Given the description of an element on the screen output the (x, y) to click on. 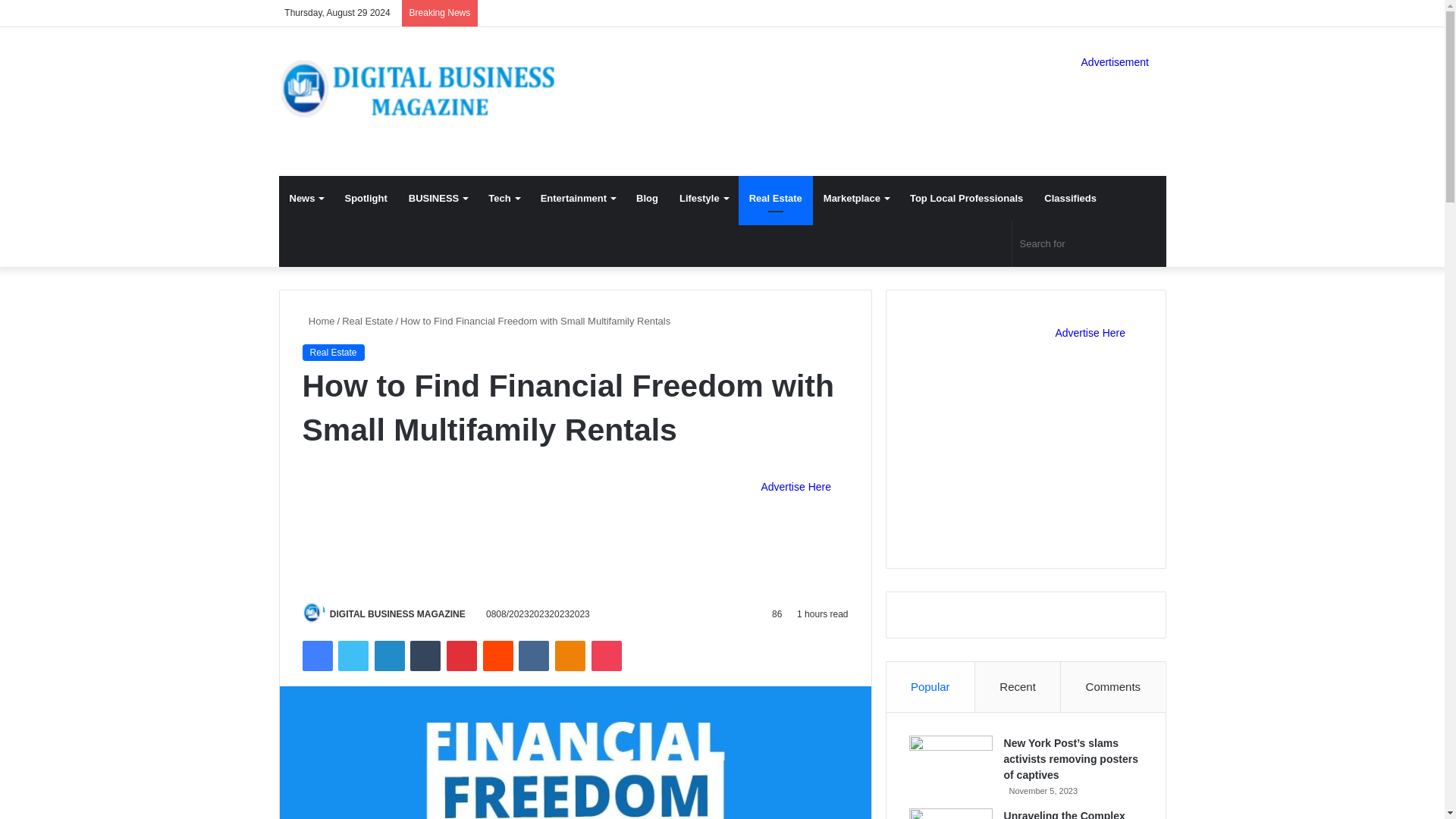
Pinterest (461, 655)
LinkedIn (389, 655)
News (306, 198)
DIGITAL BUSINESS MAGAZINE (397, 614)
Search for (1088, 243)
Odnoklassniki (569, 655)
Reddit (498, 655)
BUSINESS (437, 198)
Tumblr (425, 655)
Twitter (352, 655)
